Given the description of an element on the screen output the (x, y) to click on. 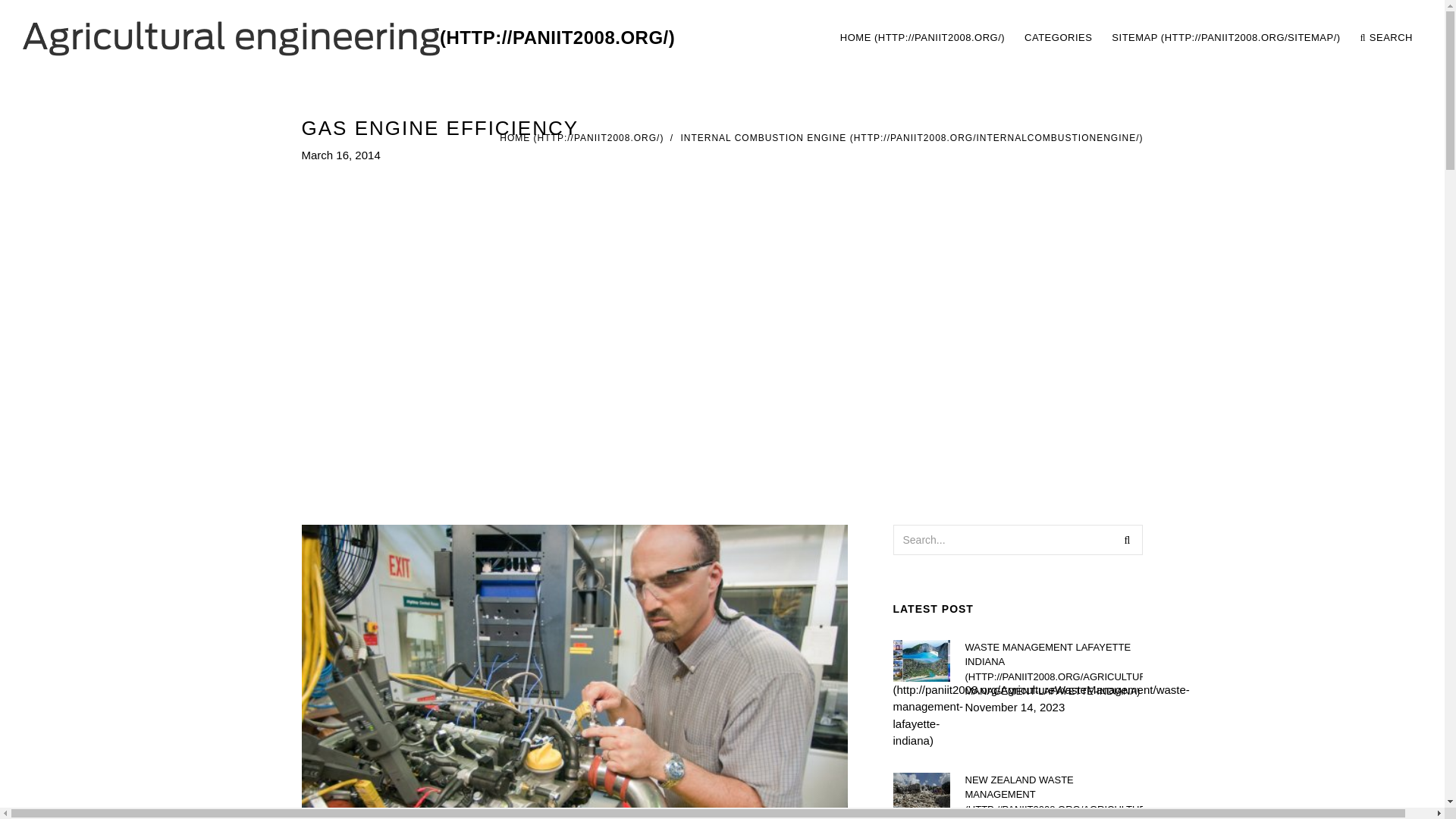
SITEMAP (1225, 38)
SEARCH (1386, 38)
WASTE MANAGEMENT LAFAYETTE INDIANA (1052, 669)
INTERNAL COMBUSTION ENGINE (910, 137)
HOME (922, 38)
HOME (581, 137)
Agricultural engineering (349, 38)
Search (1126, 539)
CATEGORIES (1057, 38)
NEW ZEALAND WASTE MANAGEMENT (1052, 795)
